Given the description of an element on the screen output the (x, y) to click on. 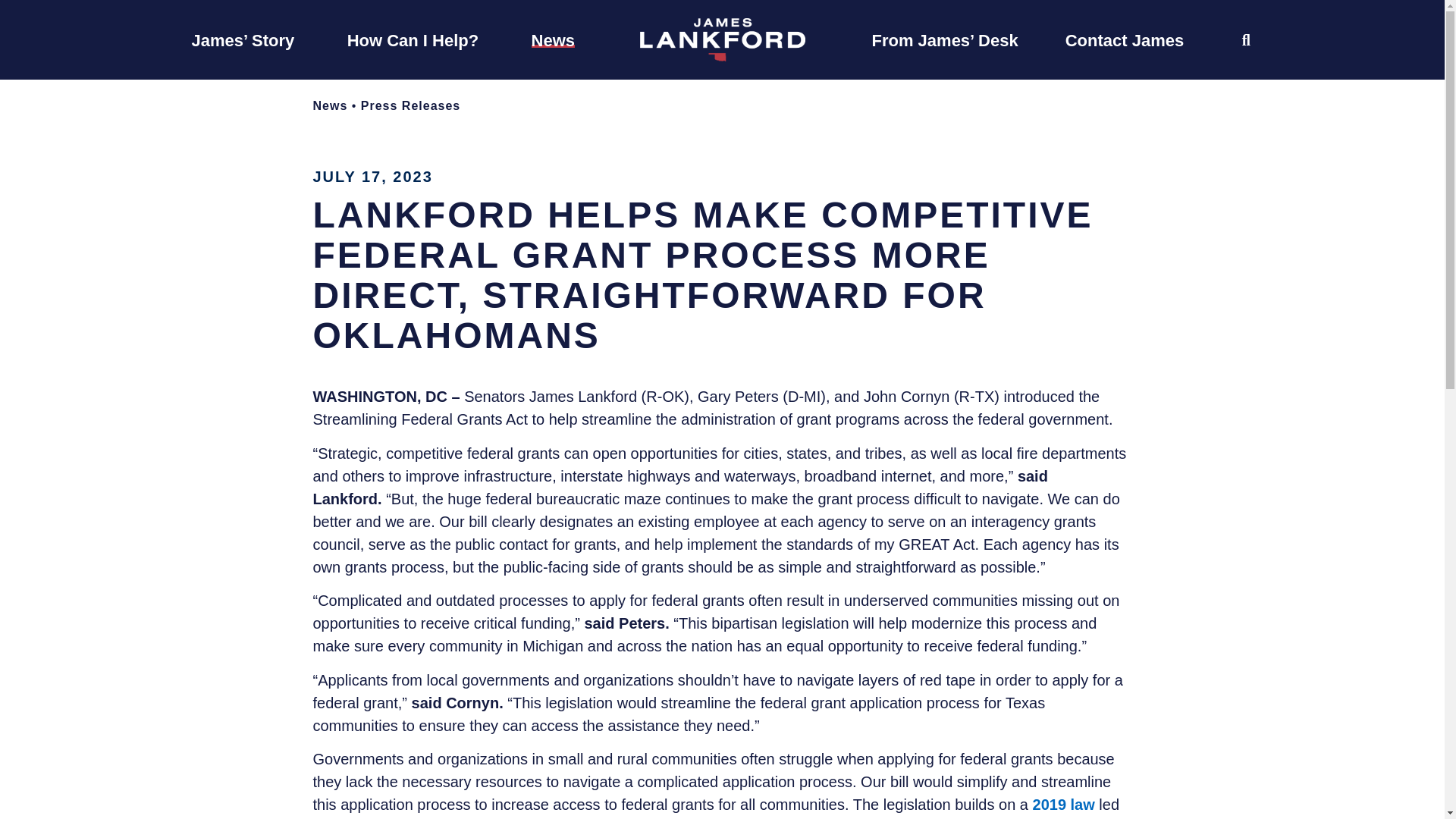
Contact James (1125, 38)
How Can I Help? (413, 38)
OPEN SEARCH (1246, 38)
News (553, 38)
